Given the description of an element on the screen output the (x, y) to click on. 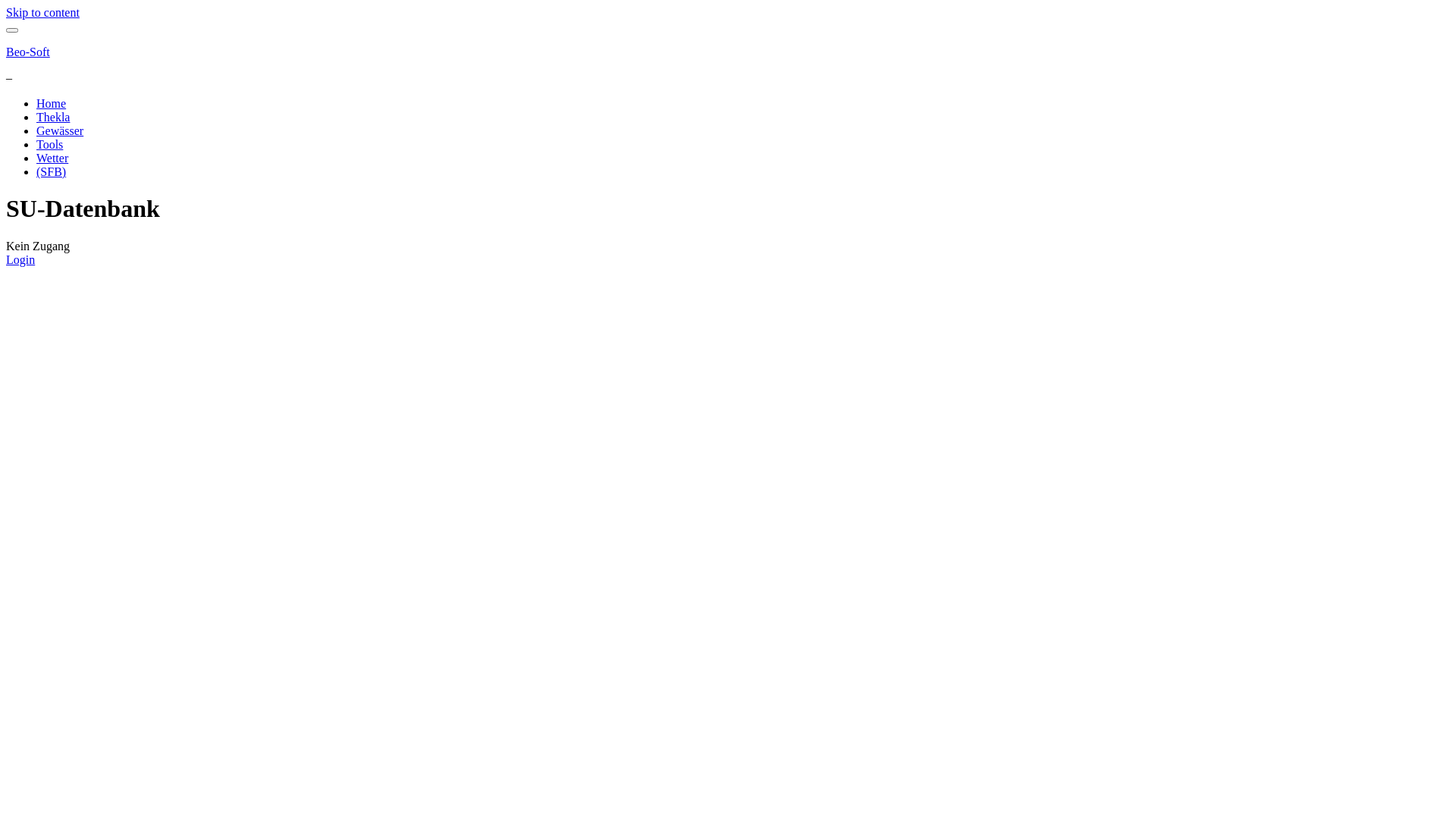
Login Element type: text (20, 259)
Wetter Element type: text (52, 157)
Home Element type: text (50, 103)
(SFB) Element type: text (50, 171)
Thekla Element type: text (52, 116)
Skip to content Element type: text (42, 12)
Beo-Soft Element type: text (28, 51)
Tools Element type: text (49, 144)
